Given the description of an element on the screen output the (x, y) to click on. 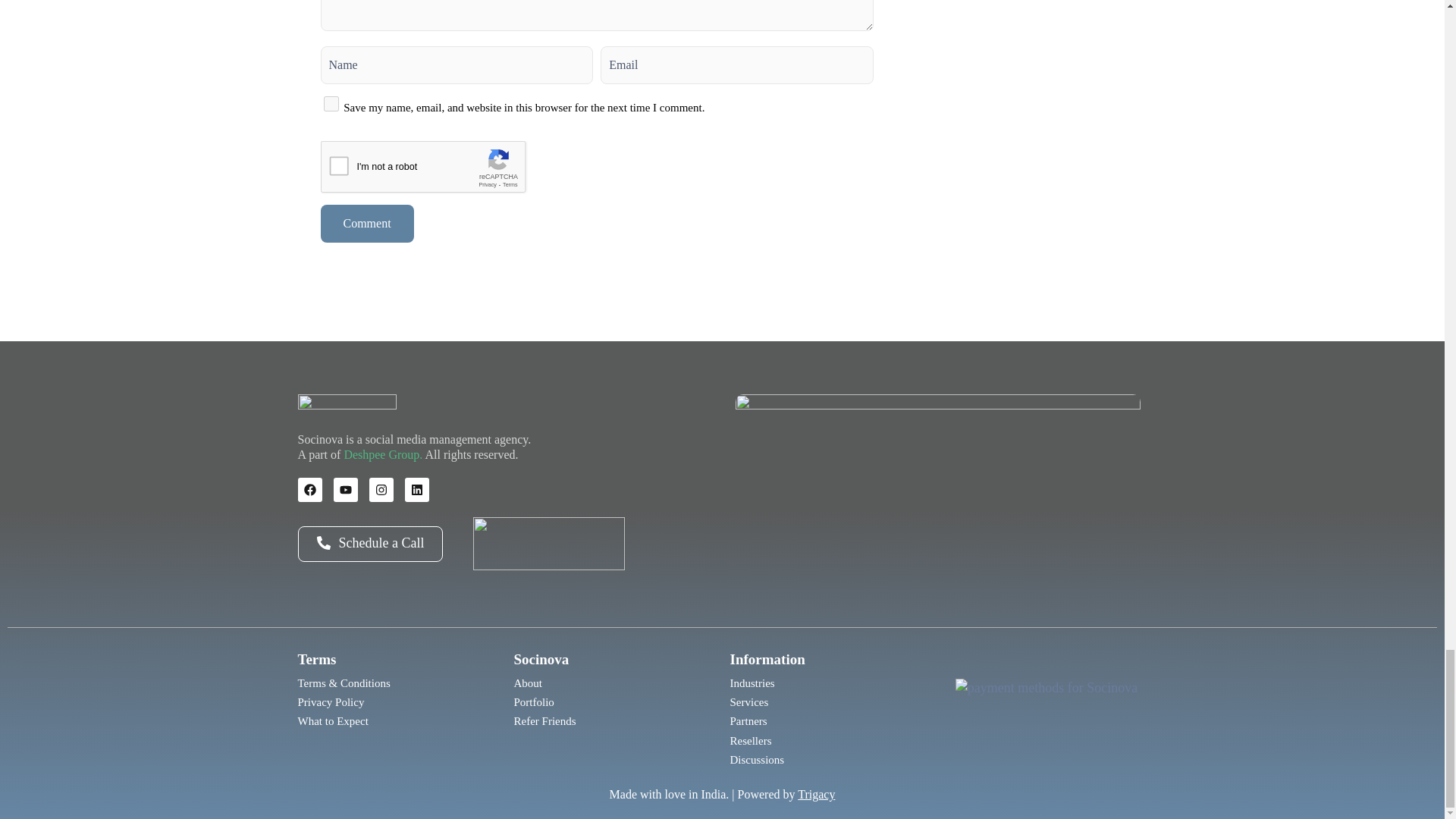
Comment (366, 223)
reCAPTCHA (435, 169)
yes (330, 103)
payment methods for Socinova (1046, 710)
